Given the description of an element on the screen output the (x, y) to click on. 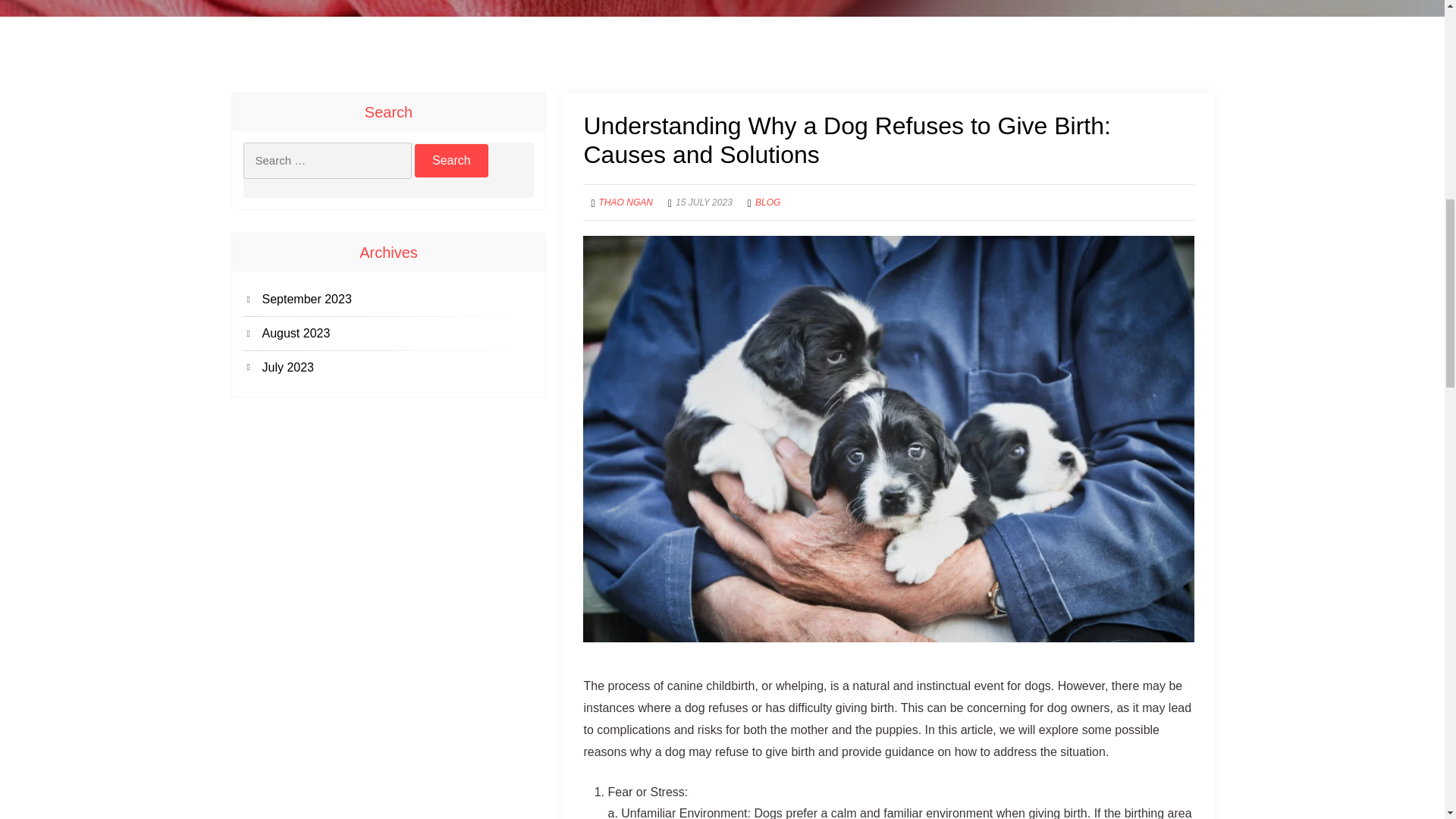
Search (450, 160)
BLOG (767, 202)
Search (450, 160)
September 2023 (398, 300)
July 2023 (398, 368)
THAO NGAN (625, 202)
Search (450, 160)
August 2023 (398, 333)
